Given the description of an element on the screen output the (x, y) to click on. 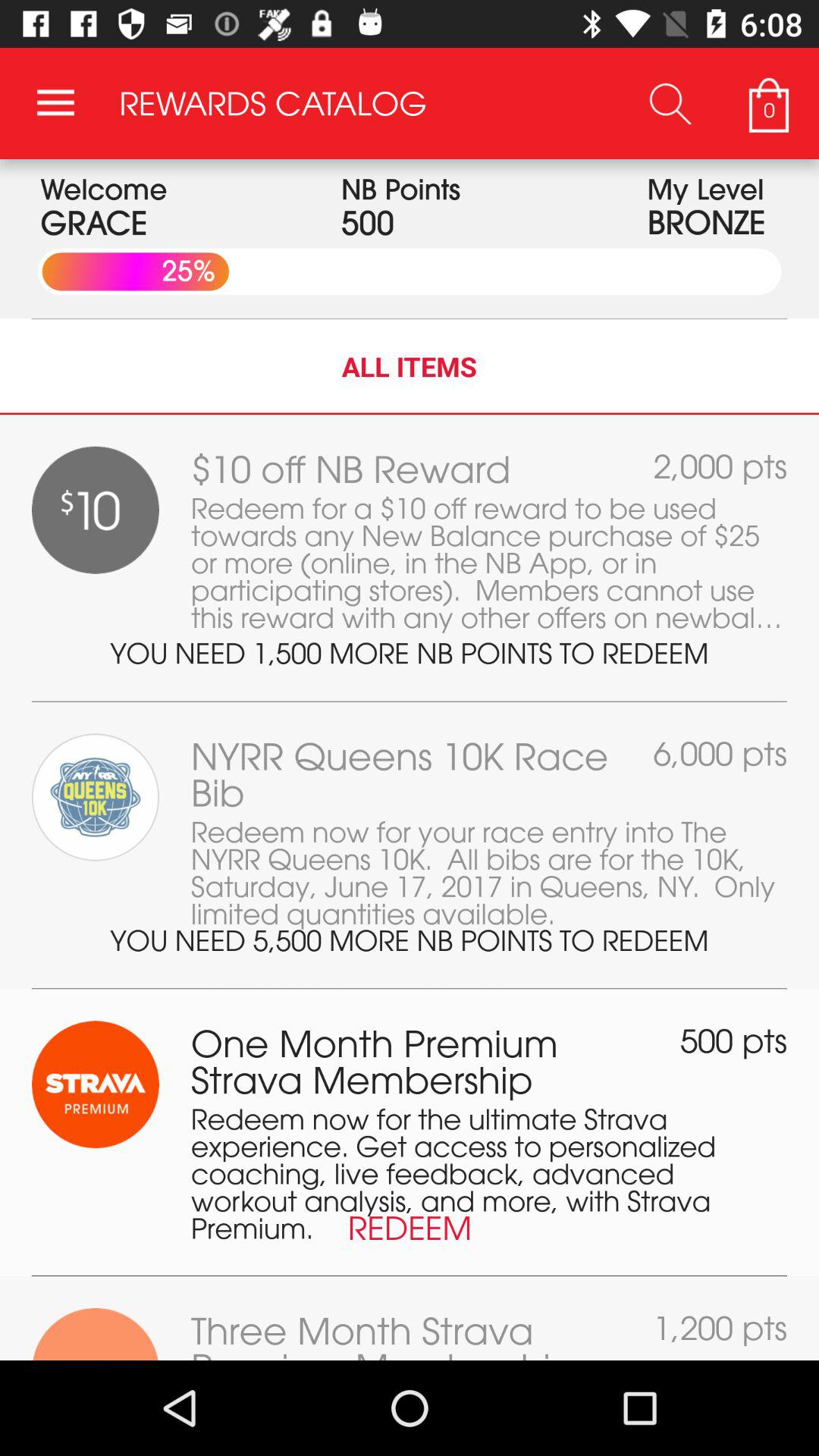
turn on the item next to rewards catalog icon (670, 103)
